Given the description of an element on the screen output the (x, y) to click on. 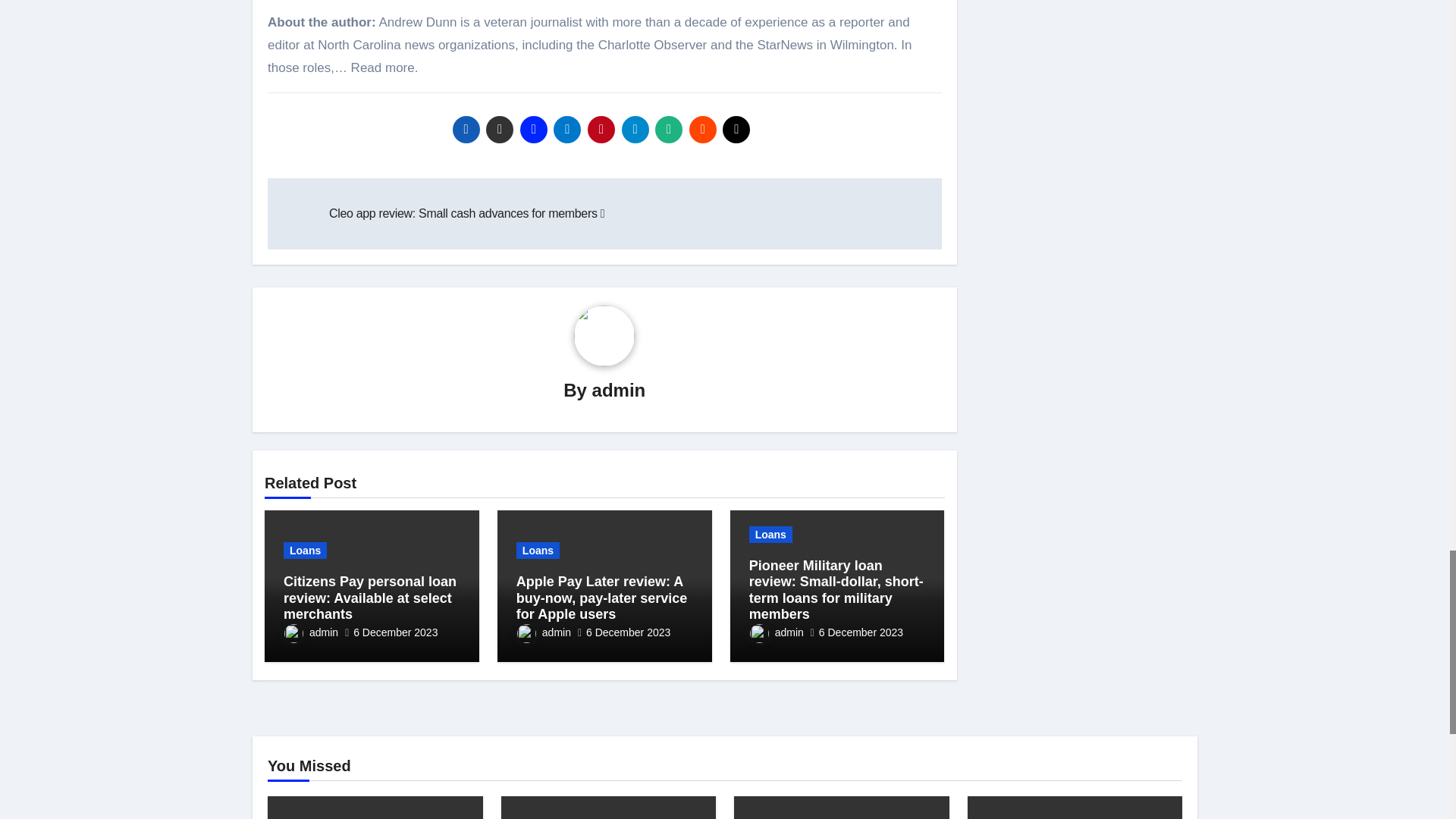
admin (619, 390)
Cleo app review: Small cash advances for members (466, 213)
Loans (304, 550)
